Given the description of an element on the screen output the (x, y) to click on. 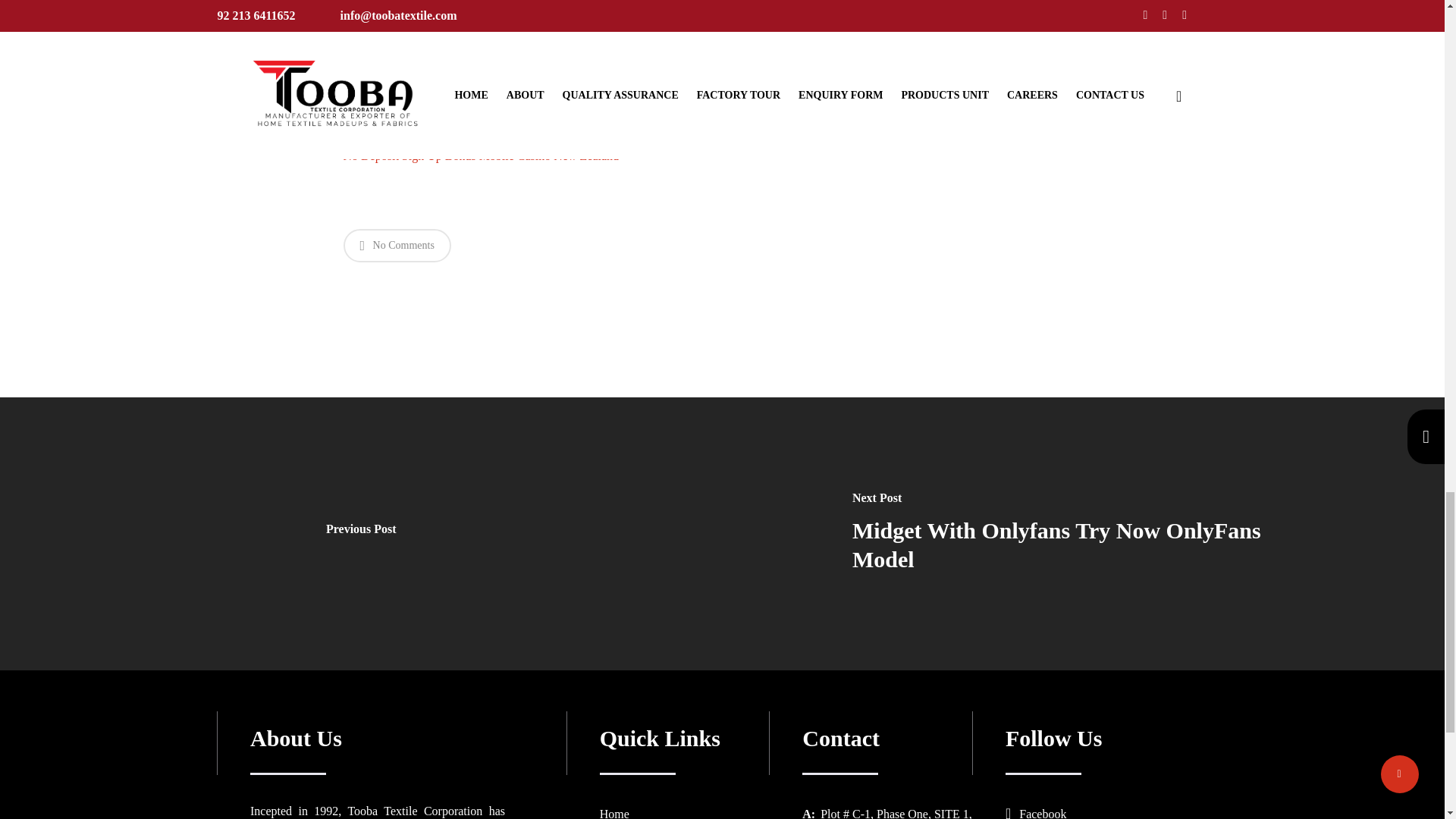
No Deposit Sign Up Bonus Mobile Casino New Zealand (480, 155)
No Comments (395, 245)
Home (613, 813)
